Given the description of an element on the screen output the (x, y) to click on. 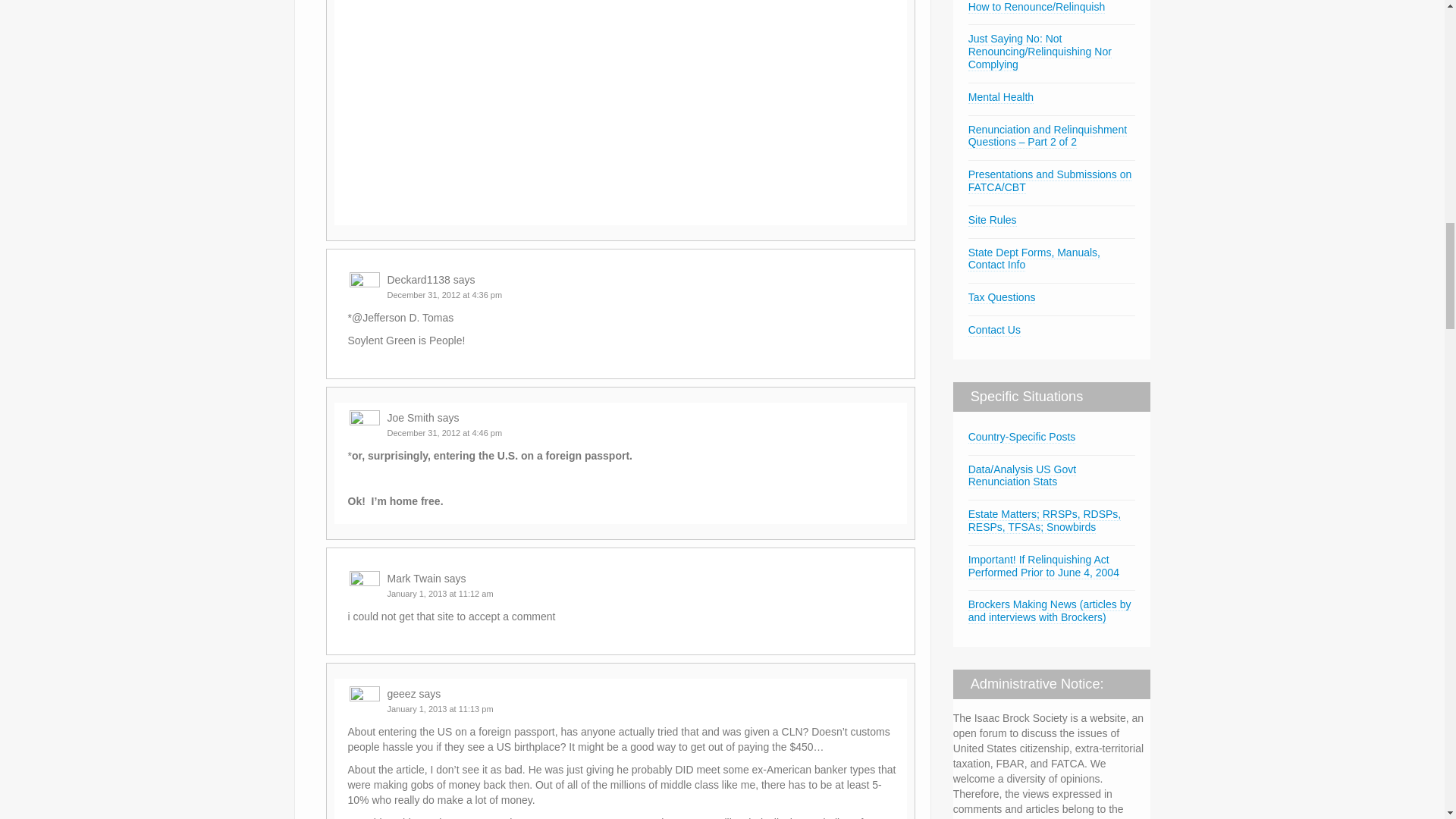
January 1, 2013 at 11:13 pm (440, 708)
January 1, 2013 at 11:12 am (440, 593)
December 31, 2012 at 4:36 pm (444, 294)
December 31, 2012 at 4:46 pm (444, 432)
